Given the description of an element on the screen output the (x, y) to click on. 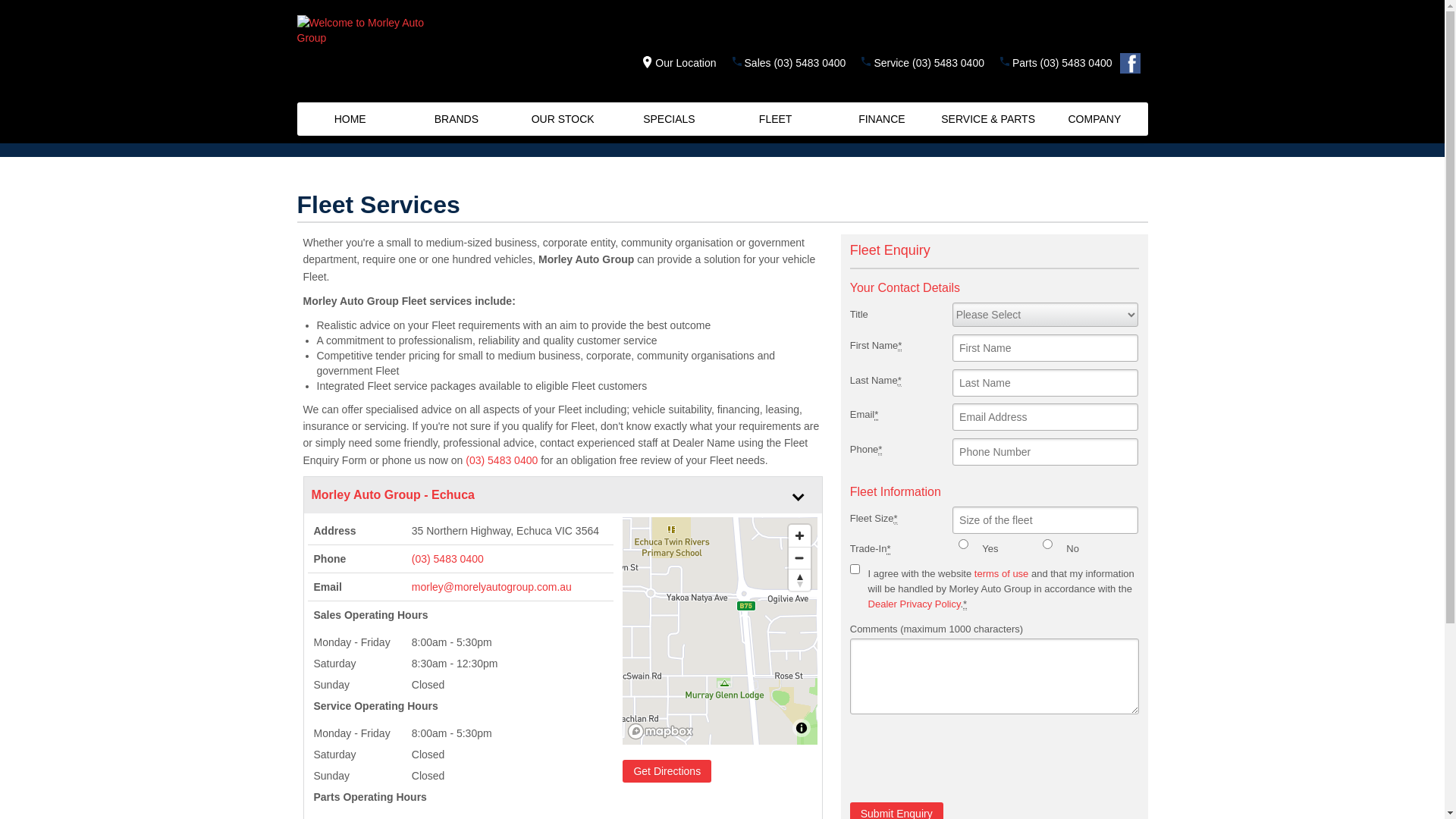
OUR STOCK Element type: text (562, 118)
Parts (03) 5483 0400 Element type: text (1062, 62)
facebook Element type: text (1133, 67)
Our Location Element type: text (674, 62)
Morley Auto Group - Echuca Element type: text (536, 484)
Reset bearing to north Element type: hover (799, 579)
SPECIALS Element type: text (668, 118)
(03) 5483 0400 Element type: text (509, 558)
Zoom in Element type: hover (799, 535)
BRANDS Element type: text (456, 118)
FINANCE Element type: text (881, 118)
Get Directions Element type: text (666, 770)
COMPANY Element type: text (1094, 118)
Zoom out Element type: hover (799, 557)
Dealer Privacy Policy Element type: text (914, 603)
morley@morelyautogroup.com.au Element type: text (491, 586)
(03) 5483 0400 Element type: text (501, 460)
Sales (03) 5483 0400 Element type: text (795, 62)
Service (03) 5483 0400 Element type: text (928, 62)
HOME Element type: text (350, 118)
terms of use Element type: text (1001, 573)
SERVICE & PARTS Element type: text (988, 118)
FLEET Element type: text (774, 118)
